Given the description of an element on the screen output the (x, y) to click on. 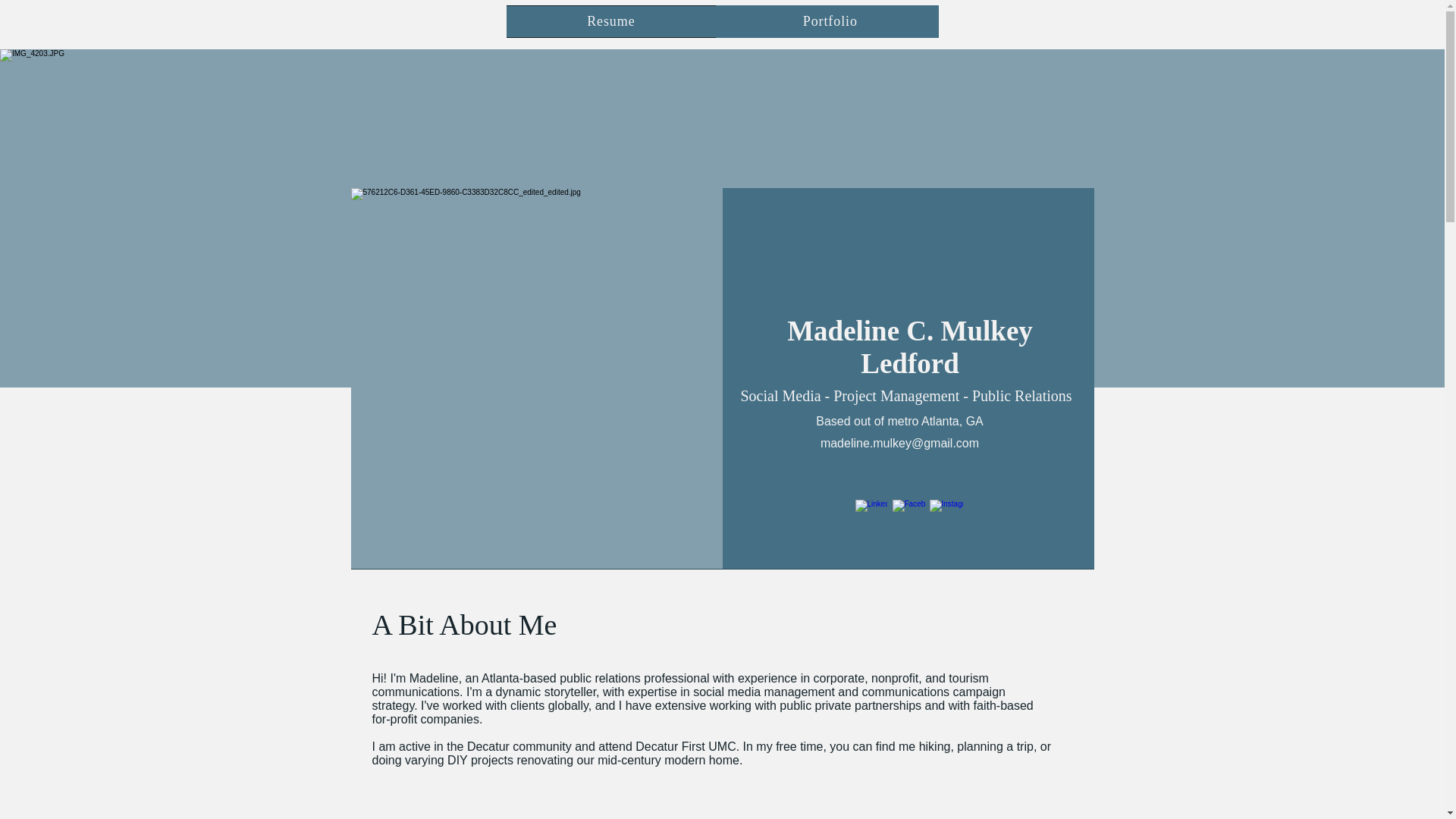
Portfolio (829, 20)
Resume (611, 20)
